Given the description of an element on the screen output the (x, y) to click on. 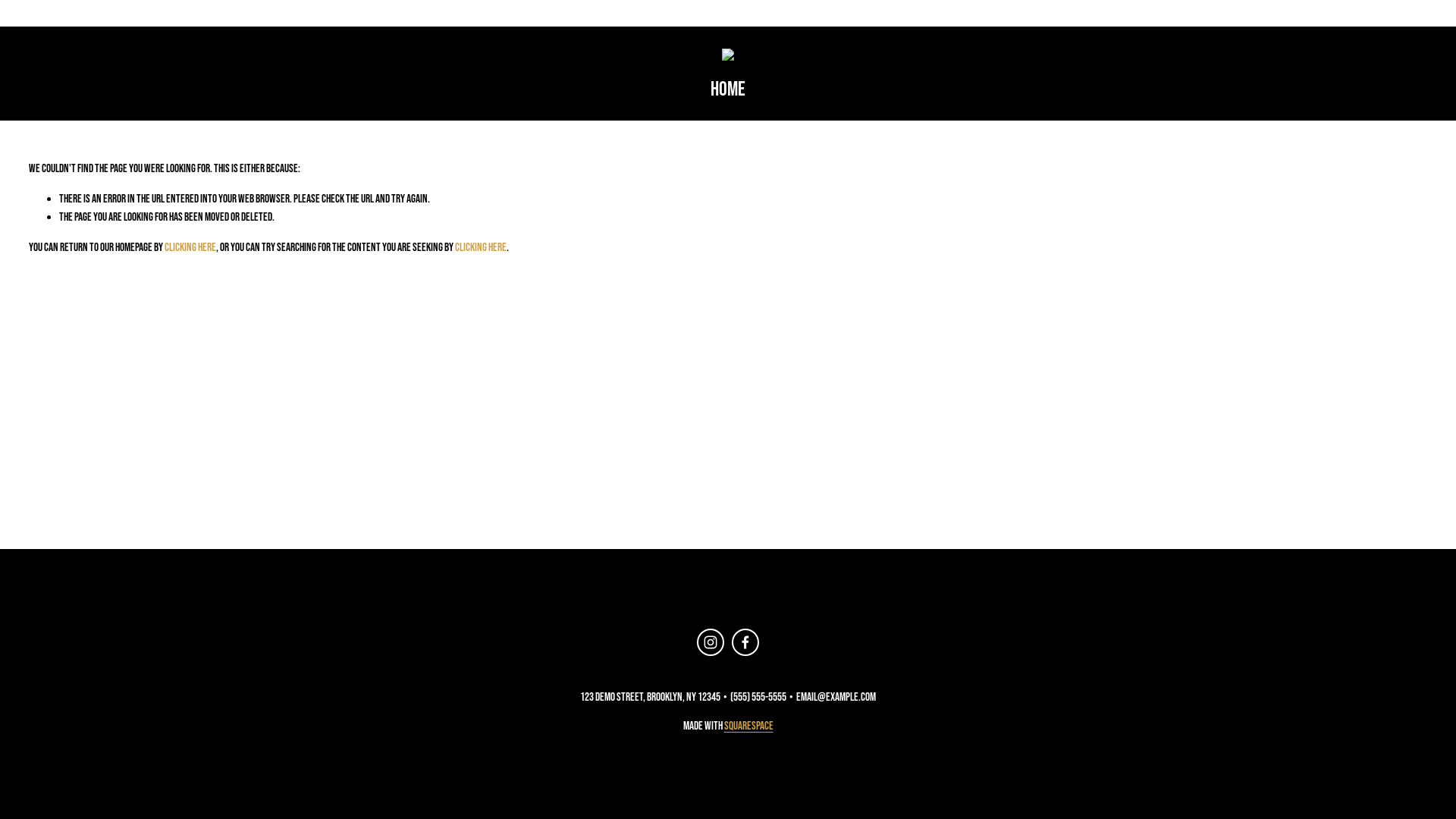
clicking here Element type: text (190, 246)
HOME Element type: text (727, 88)
clicking here Element type: text (480, 246)
Squarespace Element type: text (747, 725)
